Given the description of an element on the screen output the (x, y) to click on. 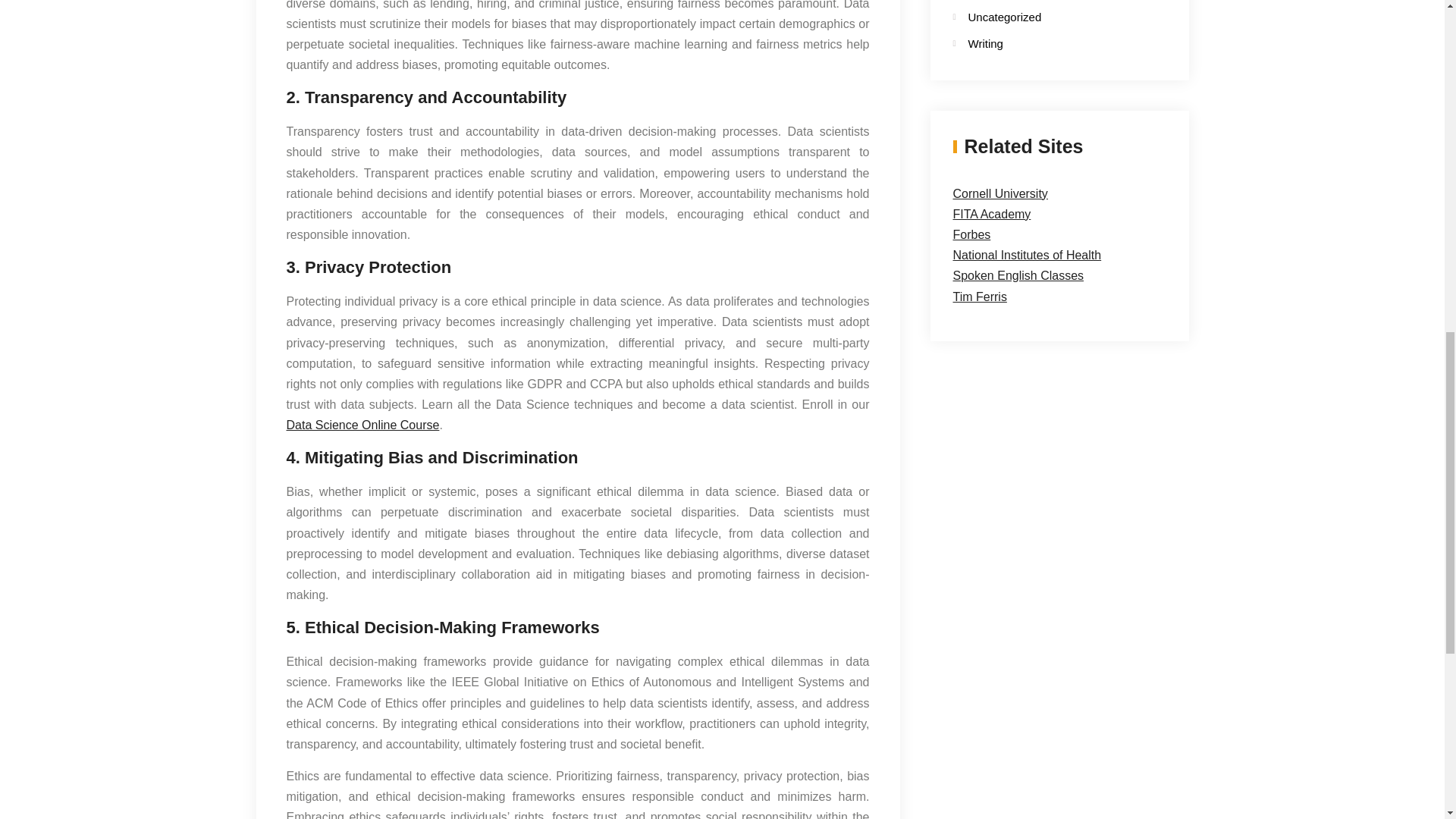
Tim Ferris (979, 296)
Data Science Online Course (362, 424)
FITA Academy (991, 214)
Forbes (971, 234)
Cornell University (999, 193)
Writing (1046, 44)
Spoken English Classes (1017, 275)
National Institutes of Health (1026, 254)
Uncategorized (1046, 17)
